Given the description of an element on the screen output the (x, y) to click on. 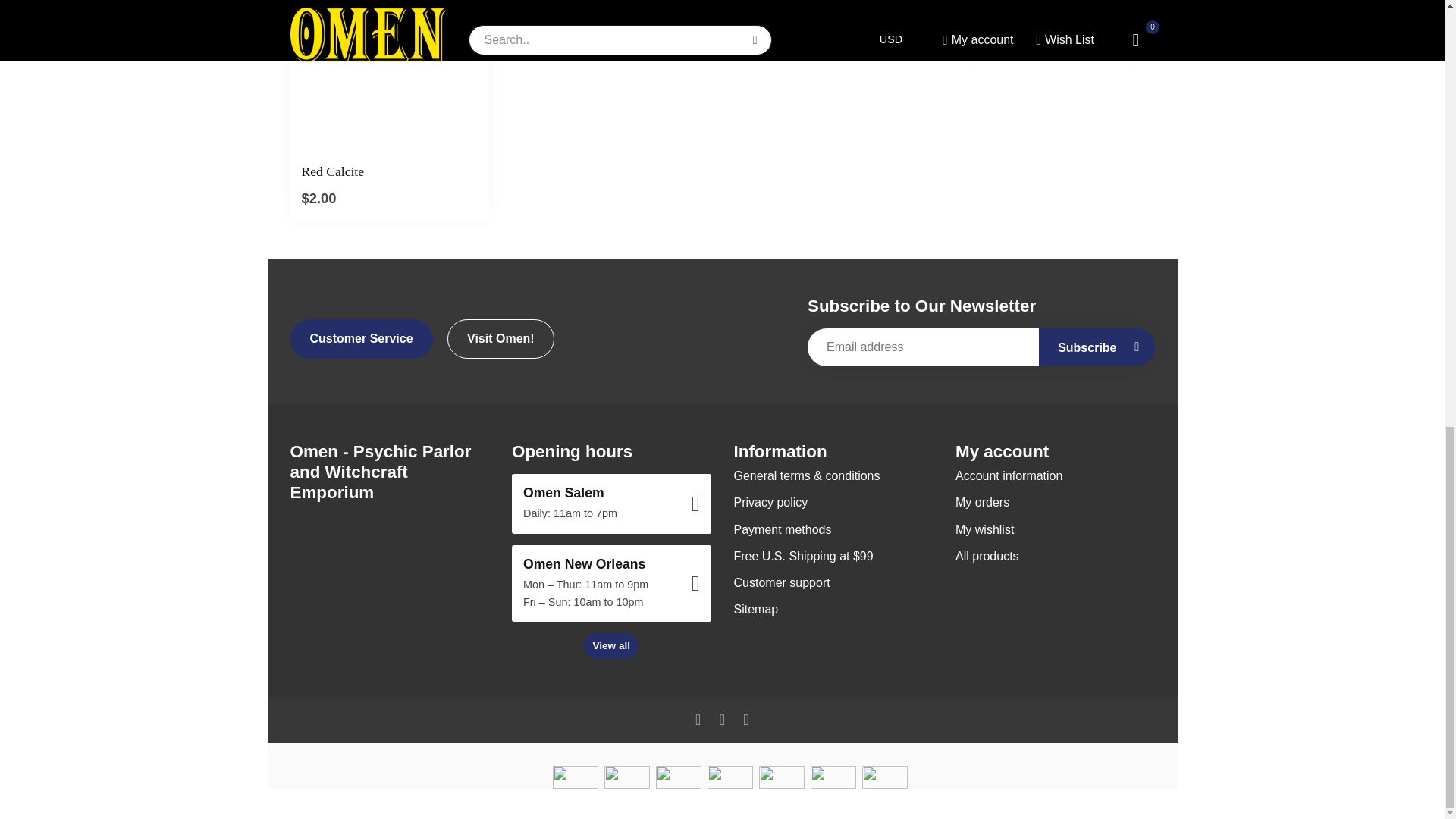
My orders (1054, 501)
My wishlist (1054, 529)
Customer support (833, 582)
Payment methods (833, 529)
Sitemap (833, 609)
Stone Spinner Red Calcite (390, 171)
All products (1054, 555)
Account information (1054, 475)
Privacy policy (833, 501)
Stone Spinner Red Calcite (389, 76)
